Given the description of an element on the screen output the (x, y) to click on. 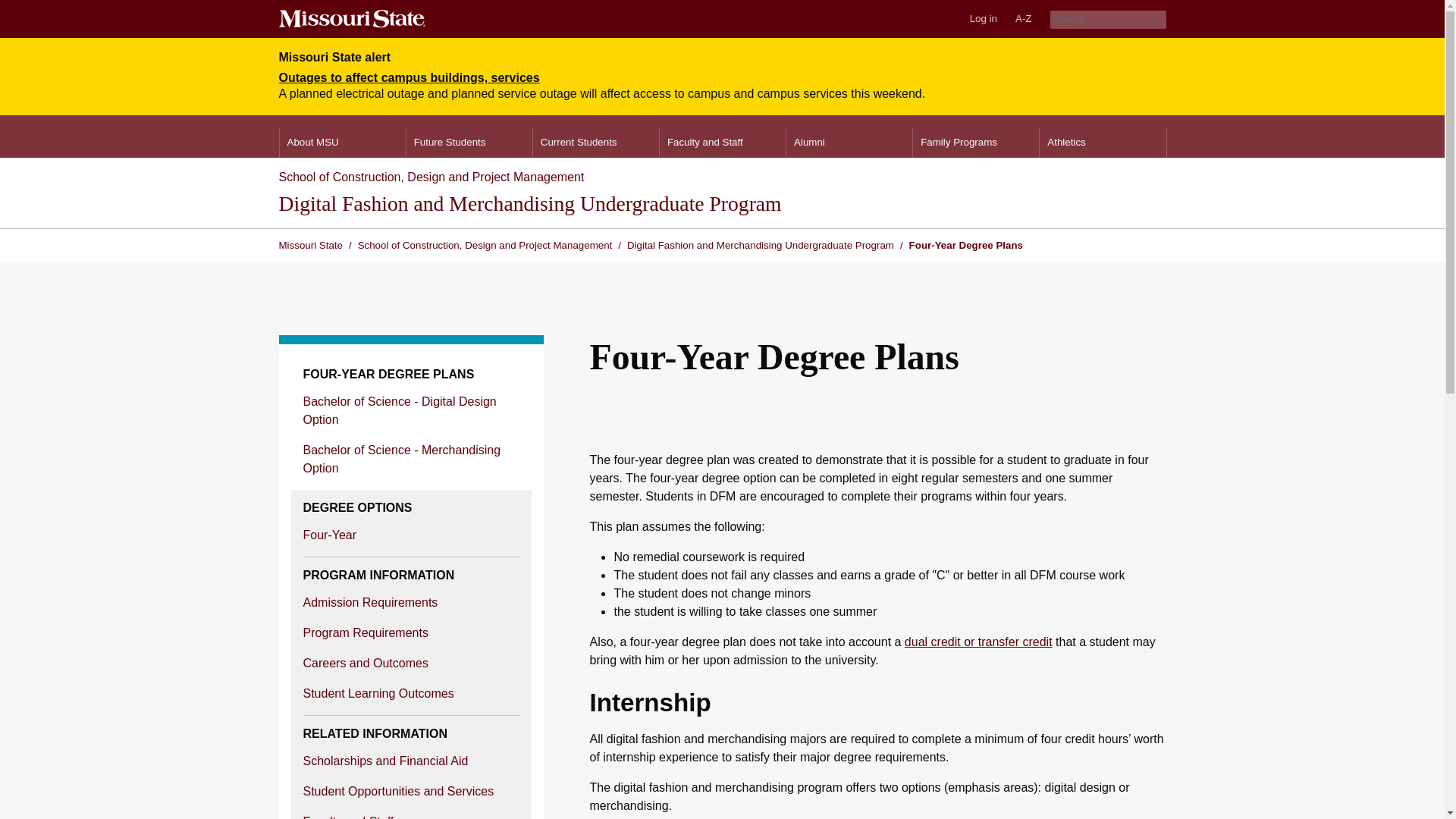
Log in (983, 18)
A-Z (1023, 18)
Outages to affect campus buildings, services (409, 77)
About MSU (341, 142)
Future Students (469, 142)
